Given the description of an element on the screen output the (x, y) to click on. 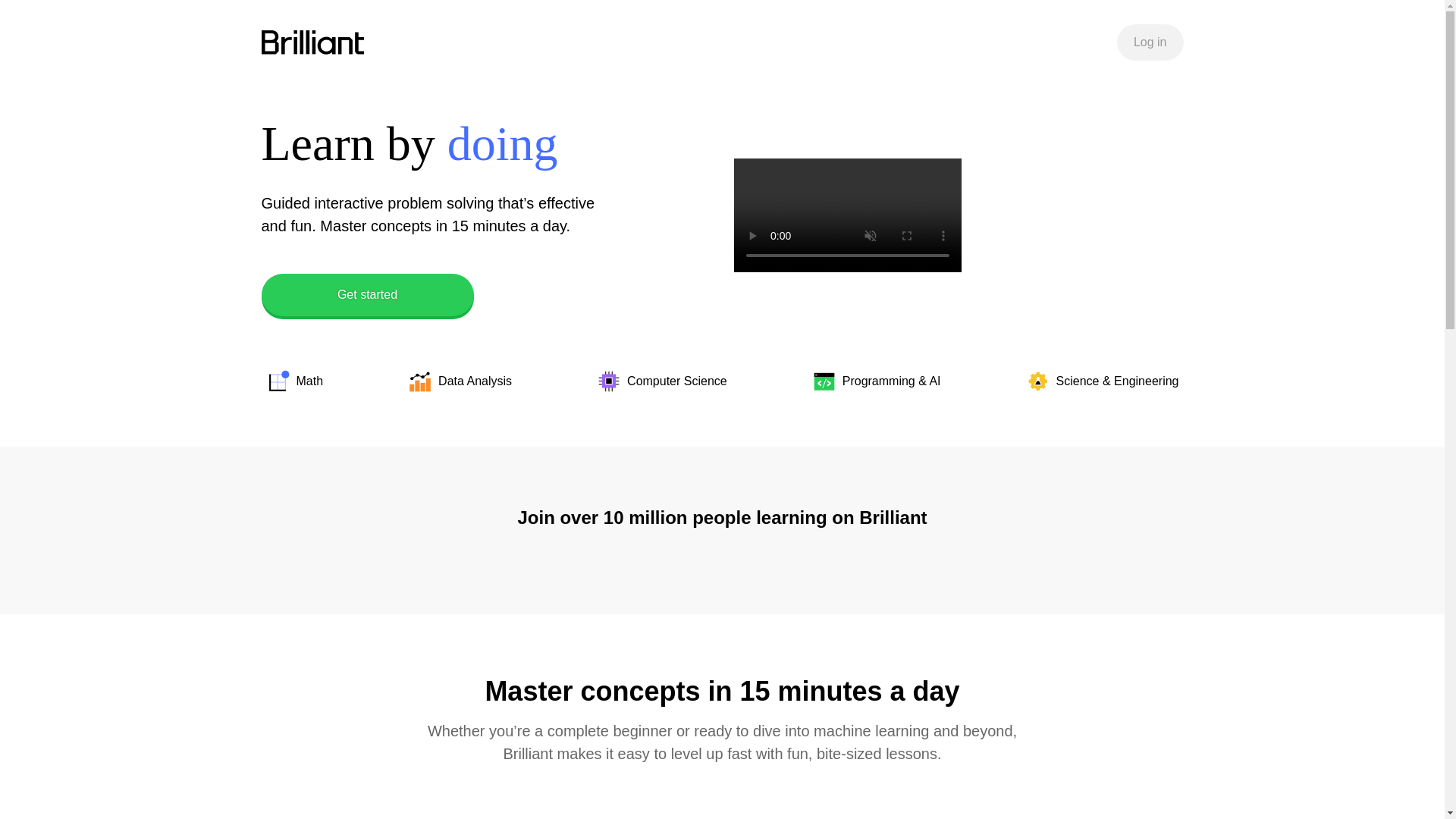
Get started (366, 294)
Log in (1149, 42)
